Given the description of an element on the screen output the (x, y) to click on. 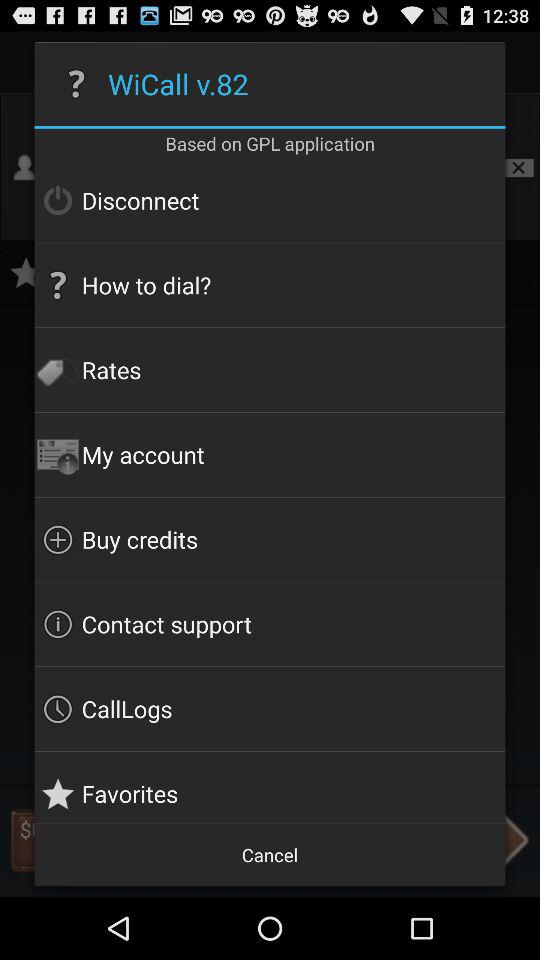
swipe until the favorites item (269, 786)
